Given the description of an element on the screen output the (x, y) to click on. 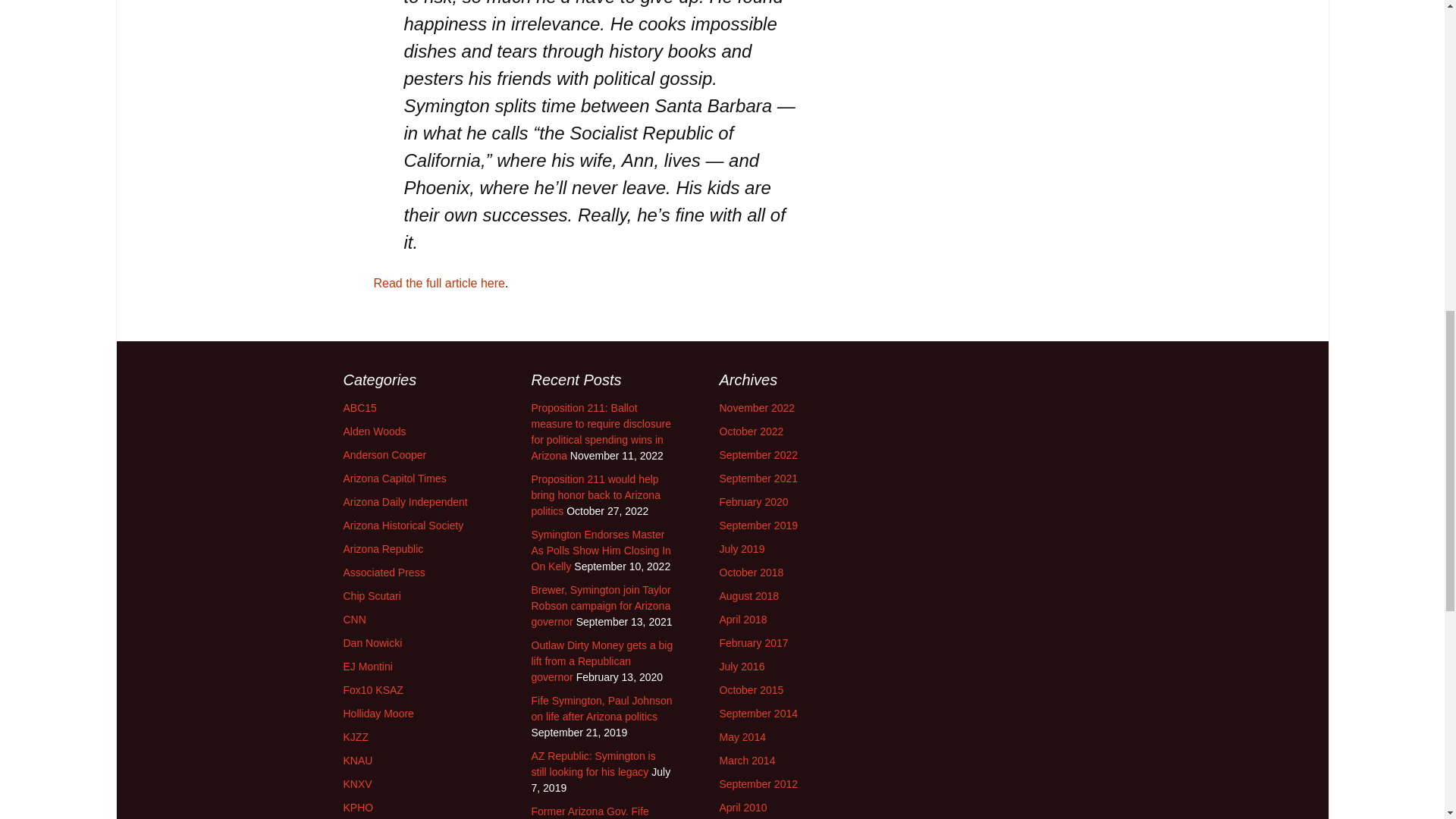
Alden Woods (374, 431)
Arizona Daily Independent (404, 501)
KNXV (356, 784)
Dan Nowicki (371, 643)
KNAU (357, 760)
Arizona Historical Society (402, 525)
CNN (353, 619)
ABC15 (358, 408)
Arizona Capitol Times (393, 478)
Holliday Moore (377, 713)
